Given the description of an element on the screen output the (x, y) to click on. 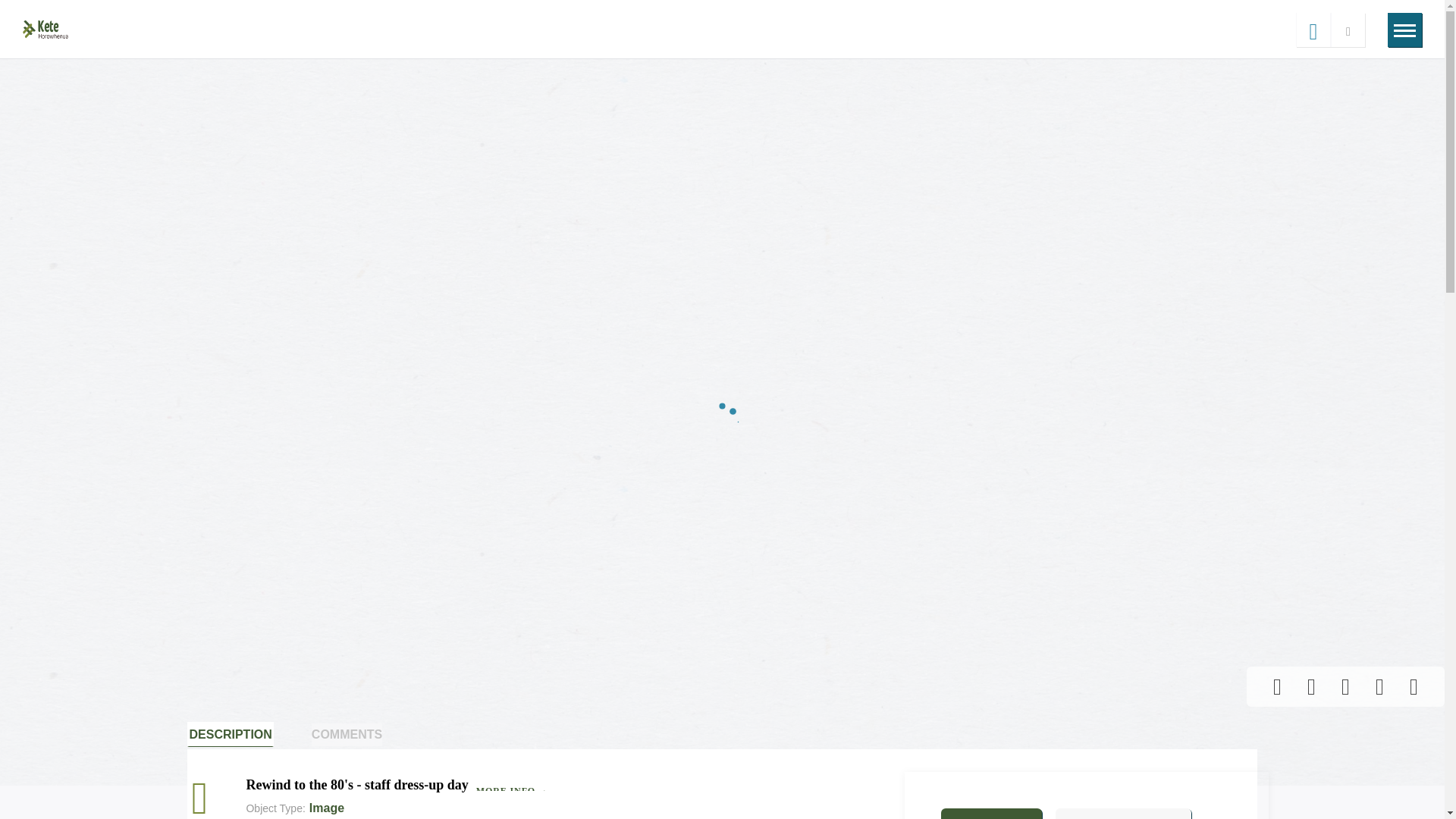
hexagon (210, 797)
Zoom In (1413, 686)
Share (1277, 686)
COMMENTS (346, 734)
image (210, 798)
Toggle site navigation (1404, 28)
Add to a set (1344, 686)
DESCRIPTION (230, 733)
Zoom Out (1379, 686)
Download (1310, 686)
Back to Search (1312, 28)
